Given the description of an element on the screen output the (x, y) to click on. 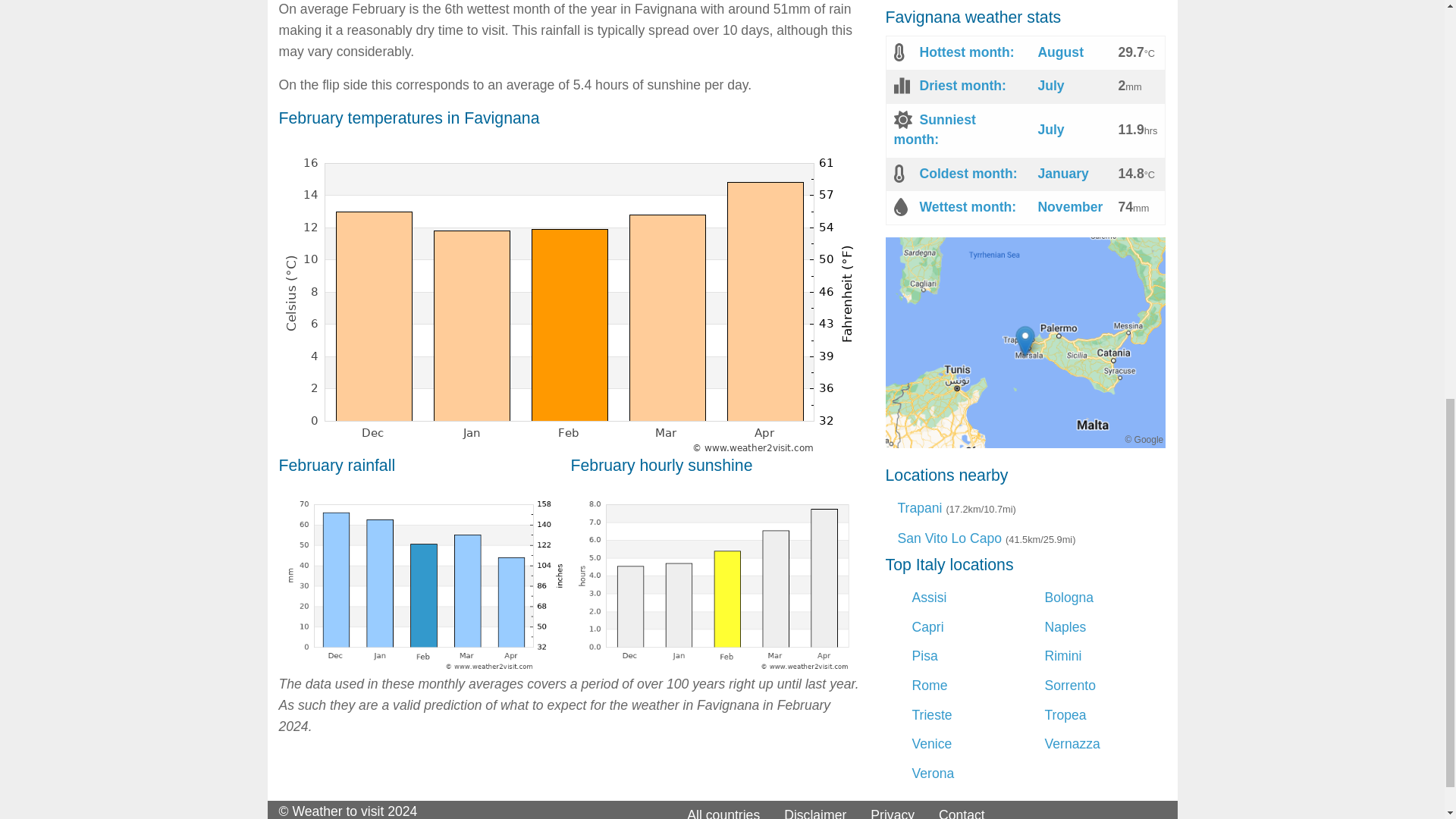
July (1050, 85)
Driest month: (962, 85)
Hottest month: (965, 52)
August (1059, 52)
Sunniest month: (934, 129)
July (1050, 129)
Coldest month: (967, 173)
